Given the description of an element on the screen output the (x, y) to click on. 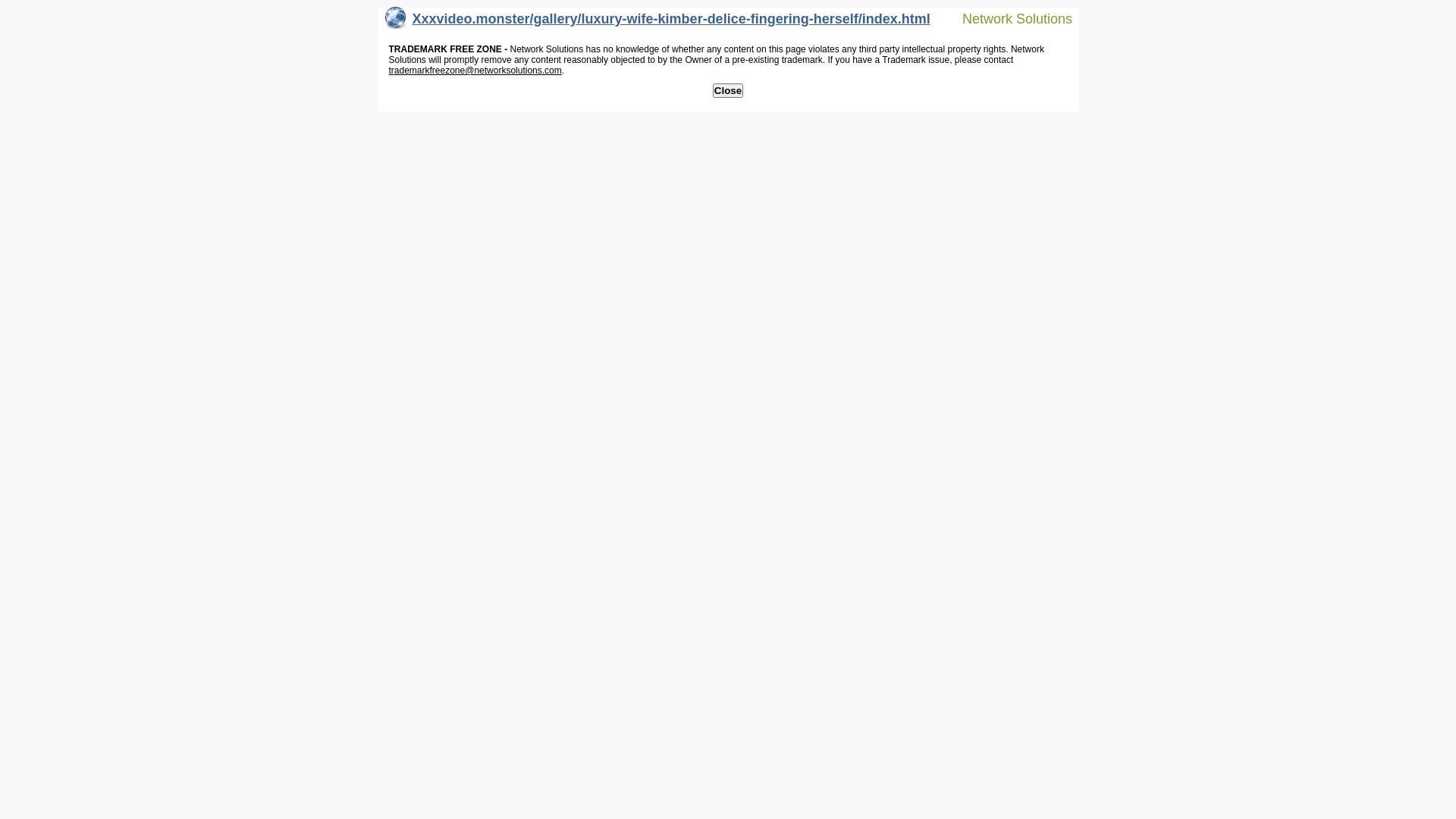
Close Element type: text (727, 90)
trademarkfreezone@networksolutions.com Element type: text (474, 70)
Network Solutions Element type: text (1007, 17)
